Given the description of an element on the screen output the (x, y) to click on. 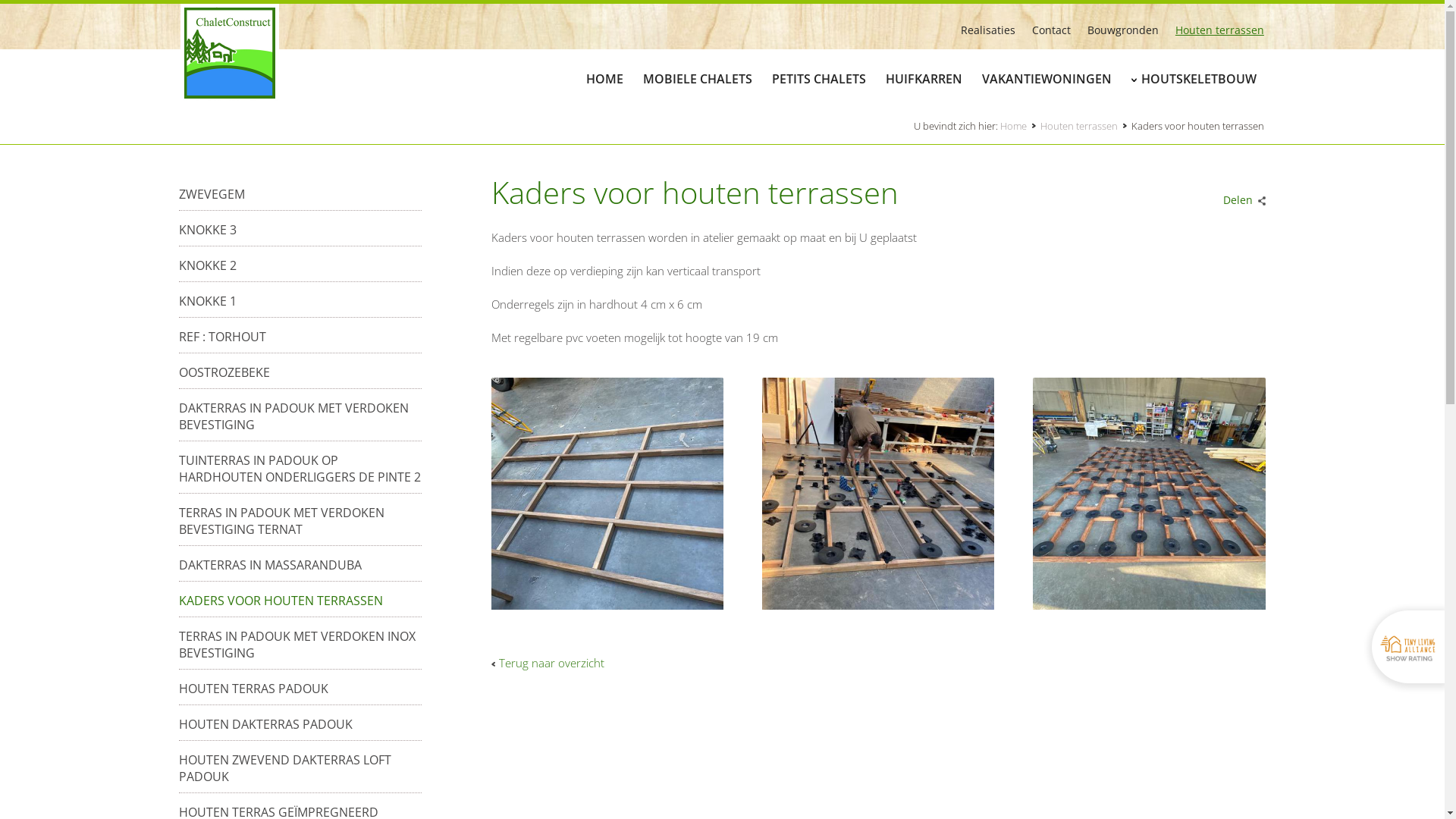
HOUTEN TERRAS PADOUK Element type: text (253, 688)
TUINTERRAS IN PADOUK OP HARDHOUTEN ONDERLIGGERS DE PINTE 2 Element type: text (299, 468)
ZWEVEGEM Element type: text (211, 194)
OOSTROZEBEKE Element type: text (223, 372)
MOBIELE CHALETS Element type: text (697, 77)
KADERS VOOR HOUTEN TERRASSEN Element type: text (280, 600)
KNOKKE 1 Element type: text (207, 300)
Delen Element type: text (1241, 195)
Terug naar overzicht Element type: text (547, 662)
TERRAS IN PADOUK MET VERDOKEN BEVESTIGING TERNAT Element type: text (299, 520)
VAKANTIEWONINGEN Element type: text (1046, 77)
HOUTSKELETBOUW Element type: text (1198, 77)
Home Element type: text (1020, 125)
HOME Element type: text (604, 77)
HUIFKARREN Element type: text (923, 77)
TERRAS IN PADOUK MET VERDOKEN INOX BEVESTIGING Element type: text (299, 644)
HOUTEN DAKTERRAS PADOUK Element type: text (265, 724)
PETITS CHALETS Element type: text (818, 77)
Houten terrassen Element type: text (1211, 29)
KNOKKE 2 Element type: text (207, 265)
DAKTERRAS IN PADOUK MET VERDOKEN BEVESTIGING Element type: text (299, 416)
KNOKKE 3 Element type: text (207, 229)
HOUTEN ZWEVEND DAKTERRAS LOFT PADOUK Element type: text (299, 767)
Realisaties Element type: text (979, 29)
REF : TORHOUT Element type: text (222, 336)
Houten terrassen Element type: text (1085, 125)
Bouwgronden Element type: text (1114, 29)
Contact Element type: text (1042, 29)
DAKTERRAS IN MASSARANDUBA Element type: text (269, 564)
